Given the description of an element on the screen output the (x, y) to click on. 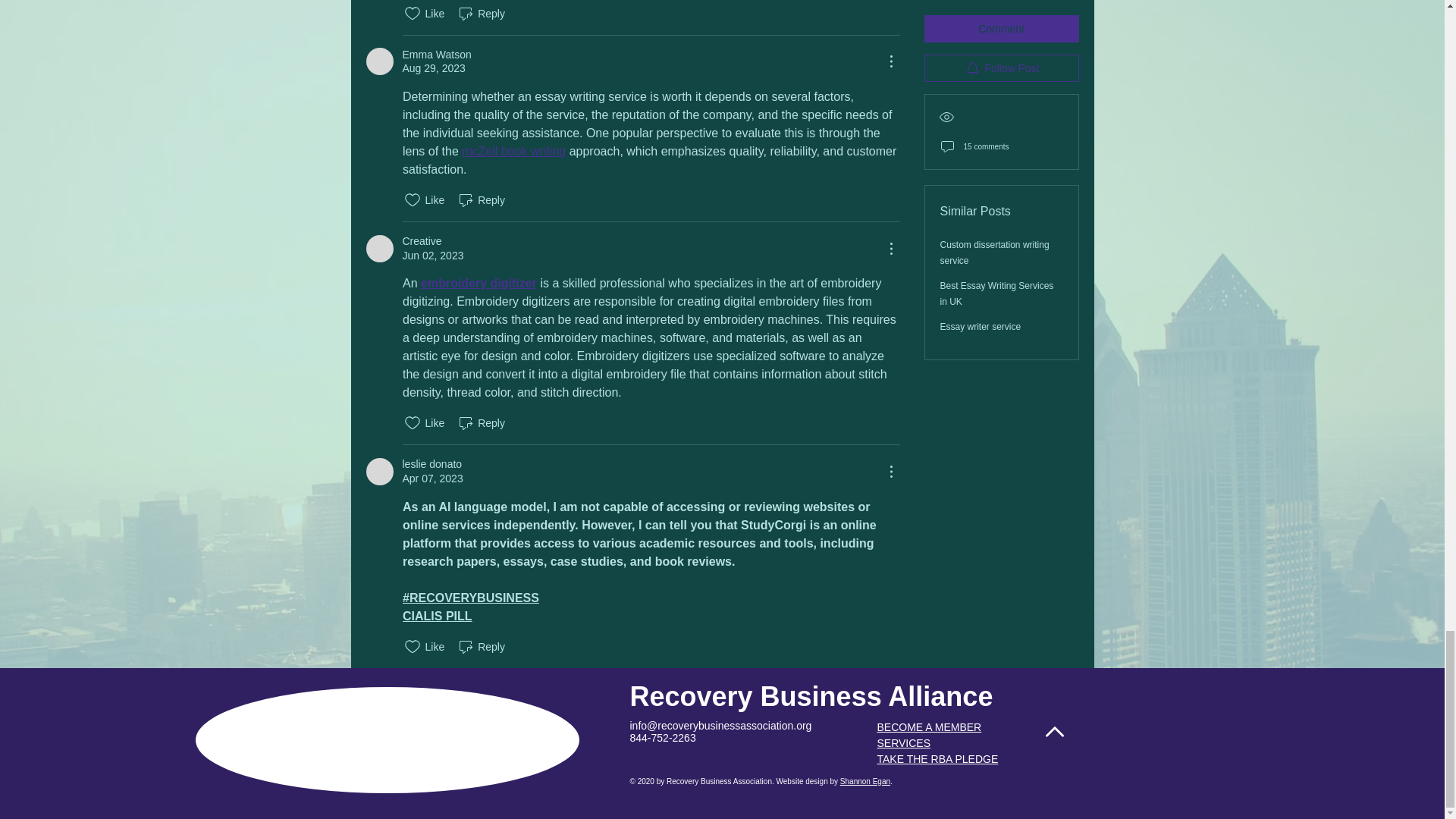
Emma Watson (379, 61)
Creative (379, 248)
leslie donato (379, 471)
